Given the description of an element on the screen output the (x, y) to click on. 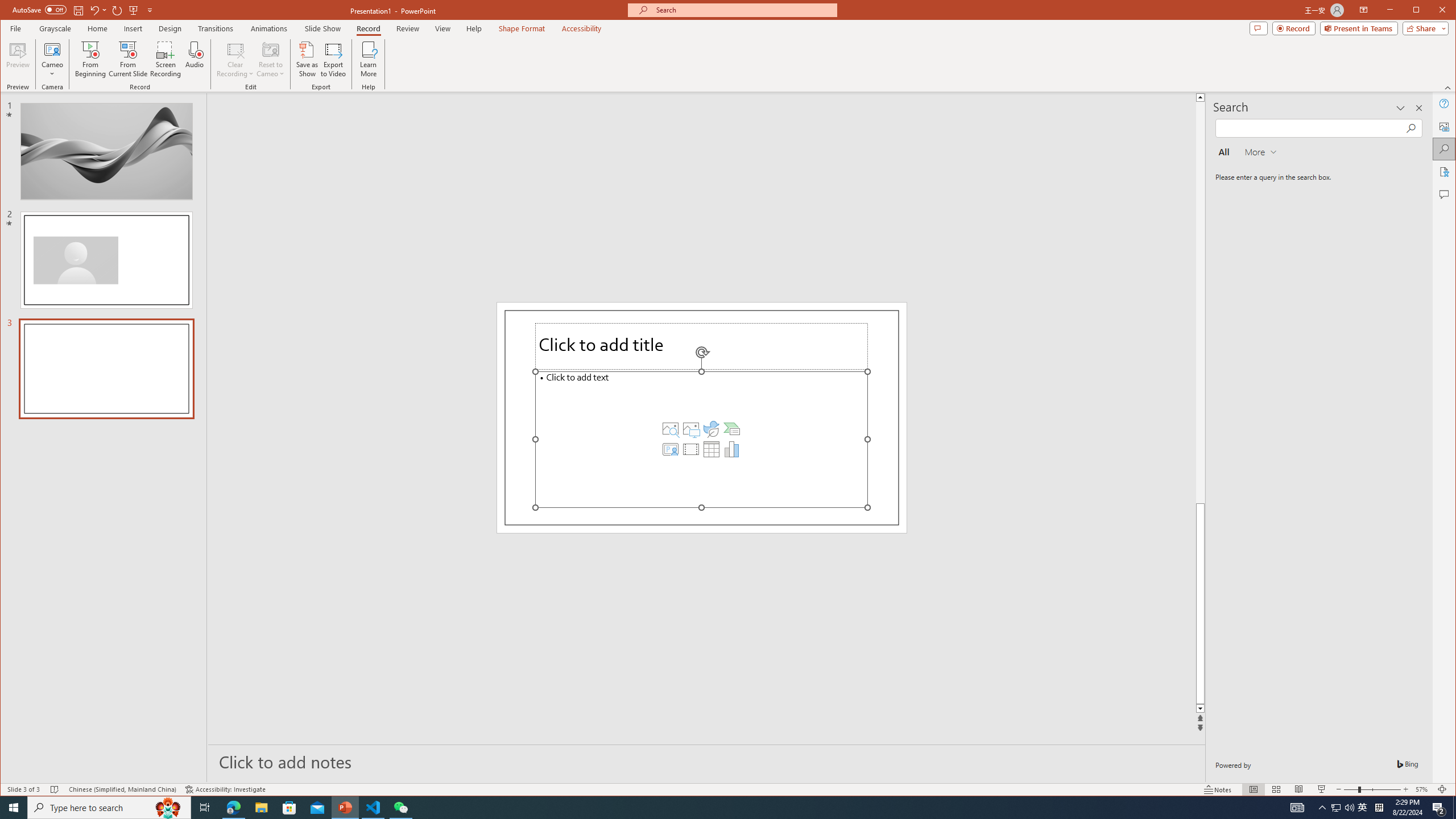
From Current Slide... (127, 59)
